Given the description of an element on the screen output the (x, y) to click on. 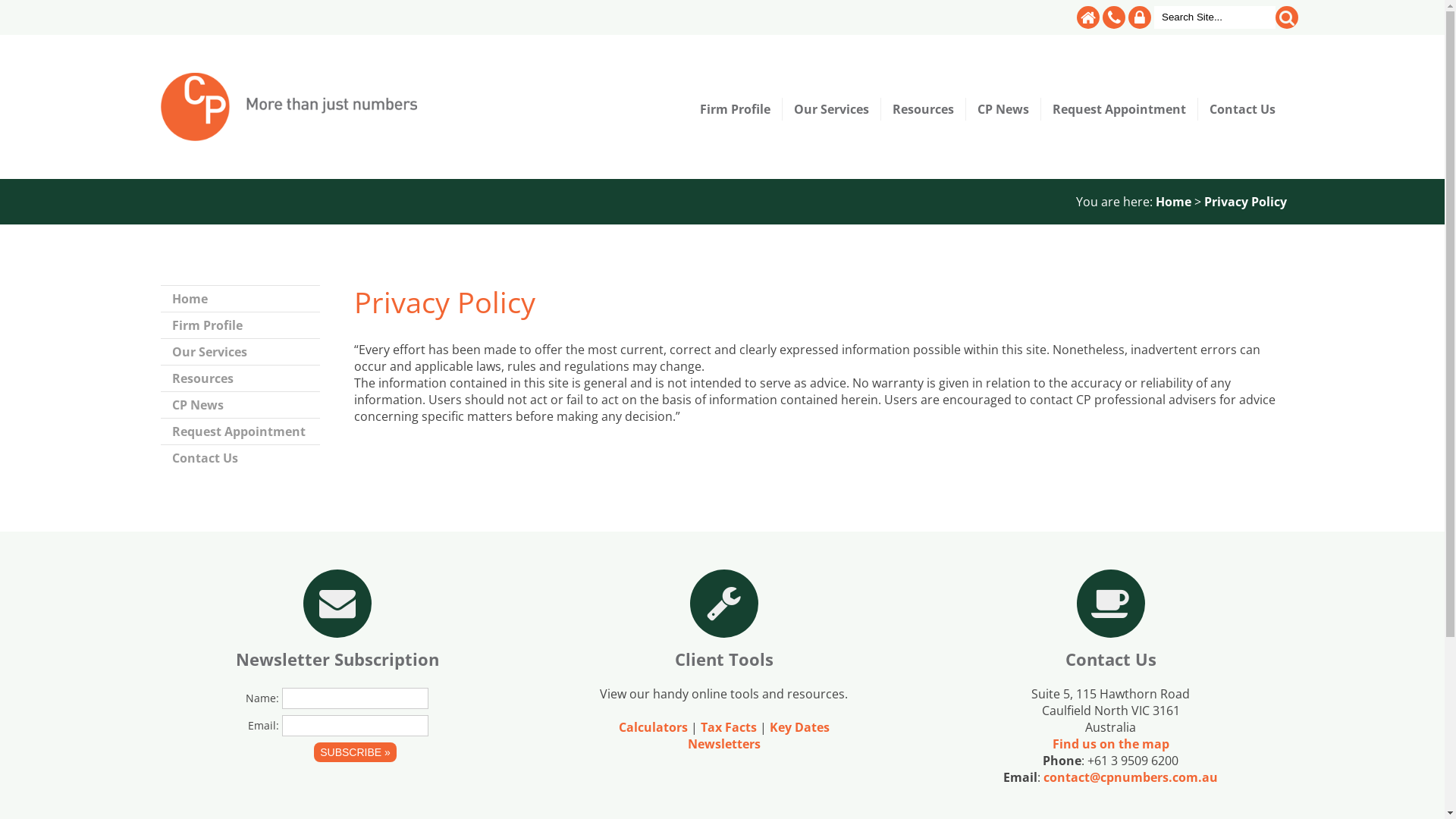
Calculators Element type: text (652, 726)
Our Services Element type: text (831, 108)
Our Services Element type: text (240, 351)
contact@cpnumbers.com.au Element type: text (1130, 776)
Request Appointment Element type: text (1119, 108)
Request Appointment Element type: text (240, 430)
CP News Element type: text (1003, 108)
Firm Profile Element type: text (240, 324)
Tax Facts Element type: text (728, 726)
Home Element type: text (1173, 201)
CP News Element type: text (240, 404)
Firm Profile Element type: text (735, 108)
Contact Us Element type: text (1242, 108)
Key Dates Element type: text (799, 726)
Resources Element type: text (240, 377)
Home Element type: text (240, 298)
Contact Us Element type: text (240, 457)
Find us on the map Element type: text (1110, 743)
Resources Element type: text (923, 108)
Newsletters Element type: text (723, 743)
Privacy Policy Element type: text (1245, 201)
